Given the description of an element on the screen output the (x, y) to click on. 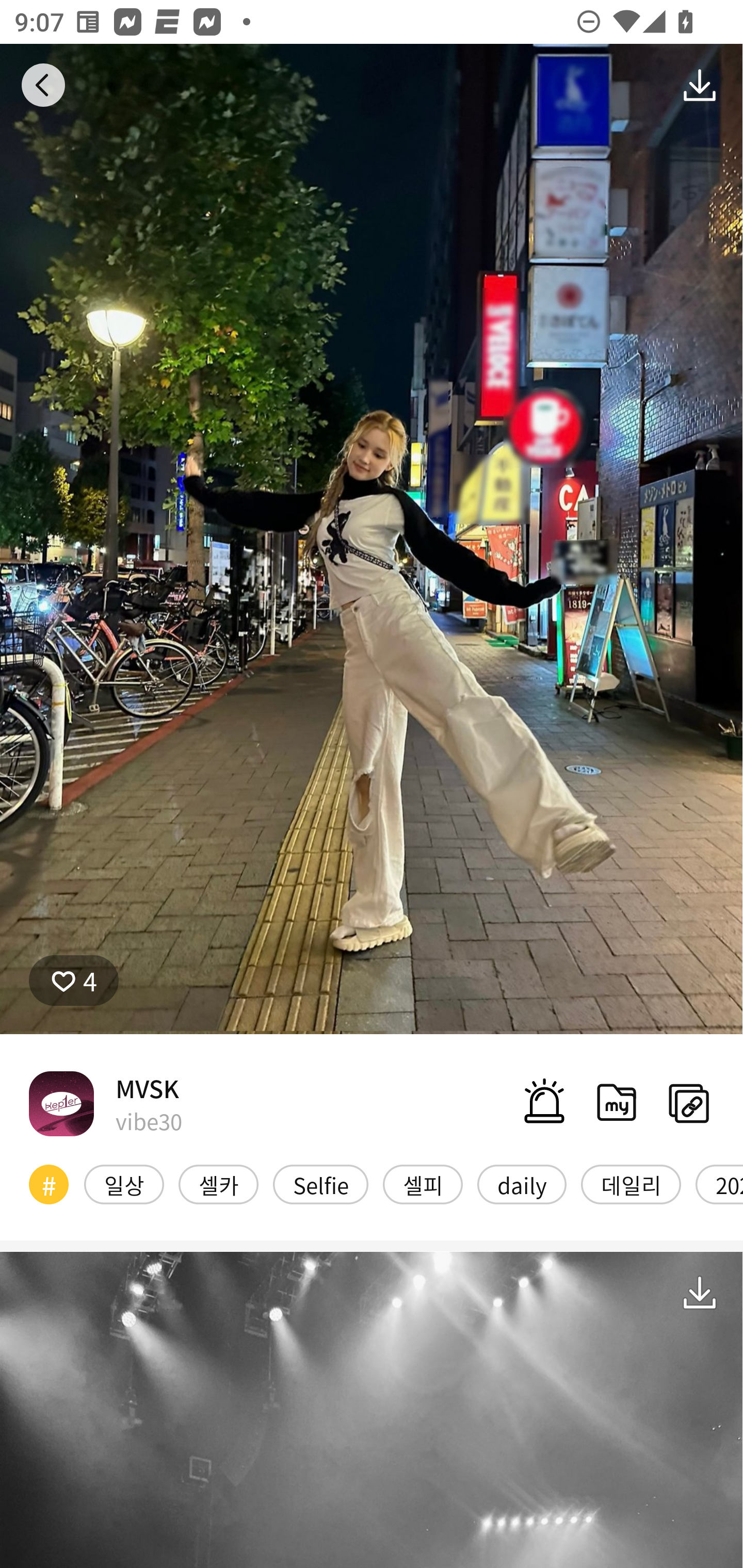
4 (73, 980)
MVSK vibe30 (105, 1102)
일상 (123, 1184)
셀카 (218, 1184)
Selfie (320, 1184)
셀피 (422, 1184)
daily (521, 1184)
데일리 (631, 1184)
